Given the description of an element on the screen output the (x, y) to click on. 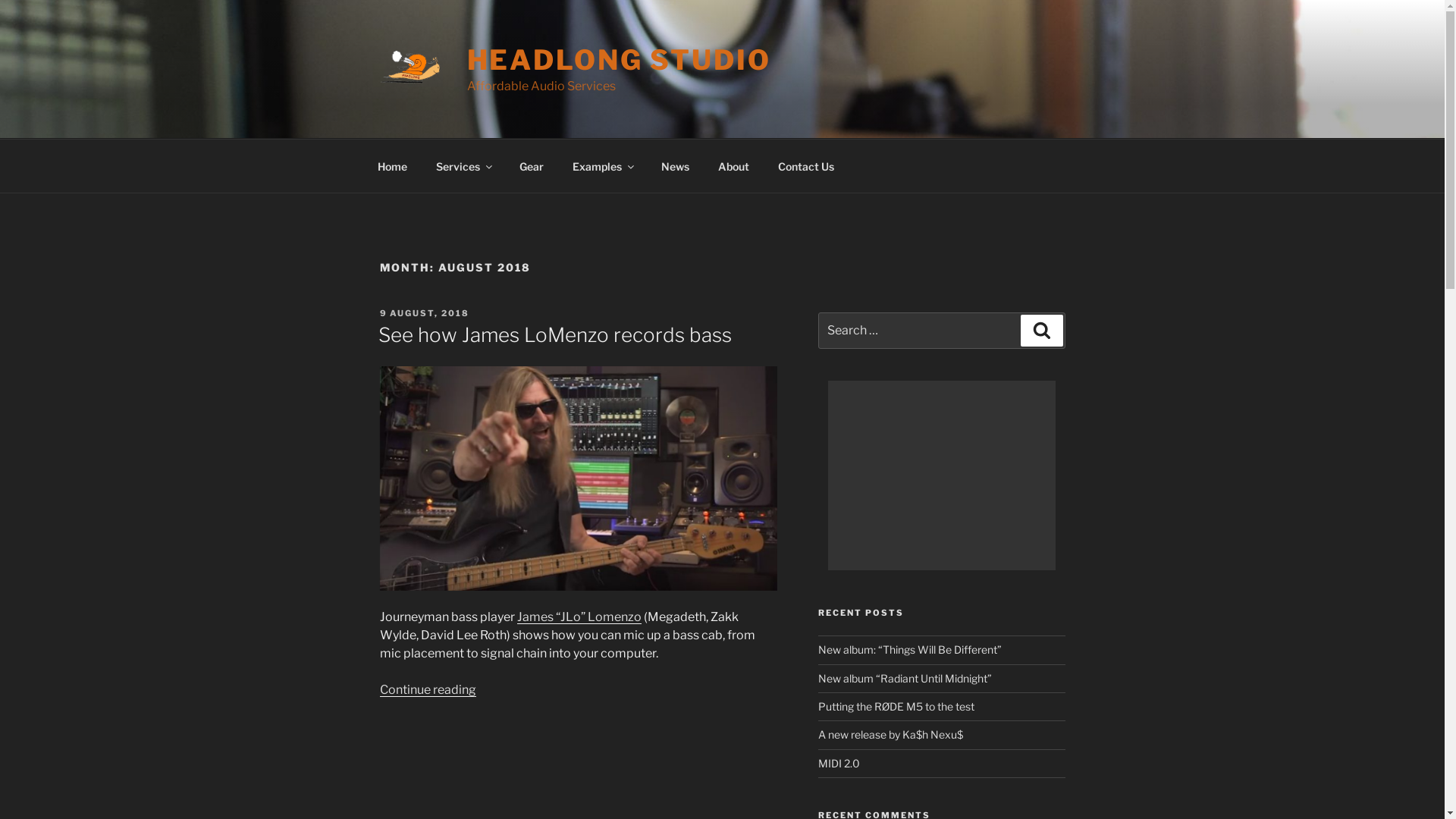
HEADLONG STUDIO Element type: text (619, 59)
Search Element type: text (1041, 330)
News Element type: text (674, 165)
9 AUGUST, 2018 Element type: text (424, 312)
Gear Element type: text (531, 165)
MIDI 2.0 Element type: text (838, 762)
Contact Us Element type: text (805, 165)
Home Element type: text (392, 165)
About Element type: text (733, 165)
See how James LoMenzo records bass Element type: text (554, 334)
A new release by Ka$h Nexu$ Element type: text (890, 734)
Services Element type: text (463, 165)
Examples Element type: text (602, 165)
Advertisement Element type: hover (941, 475)
